Given the description of an element on the screen output the (x, y) to click on. 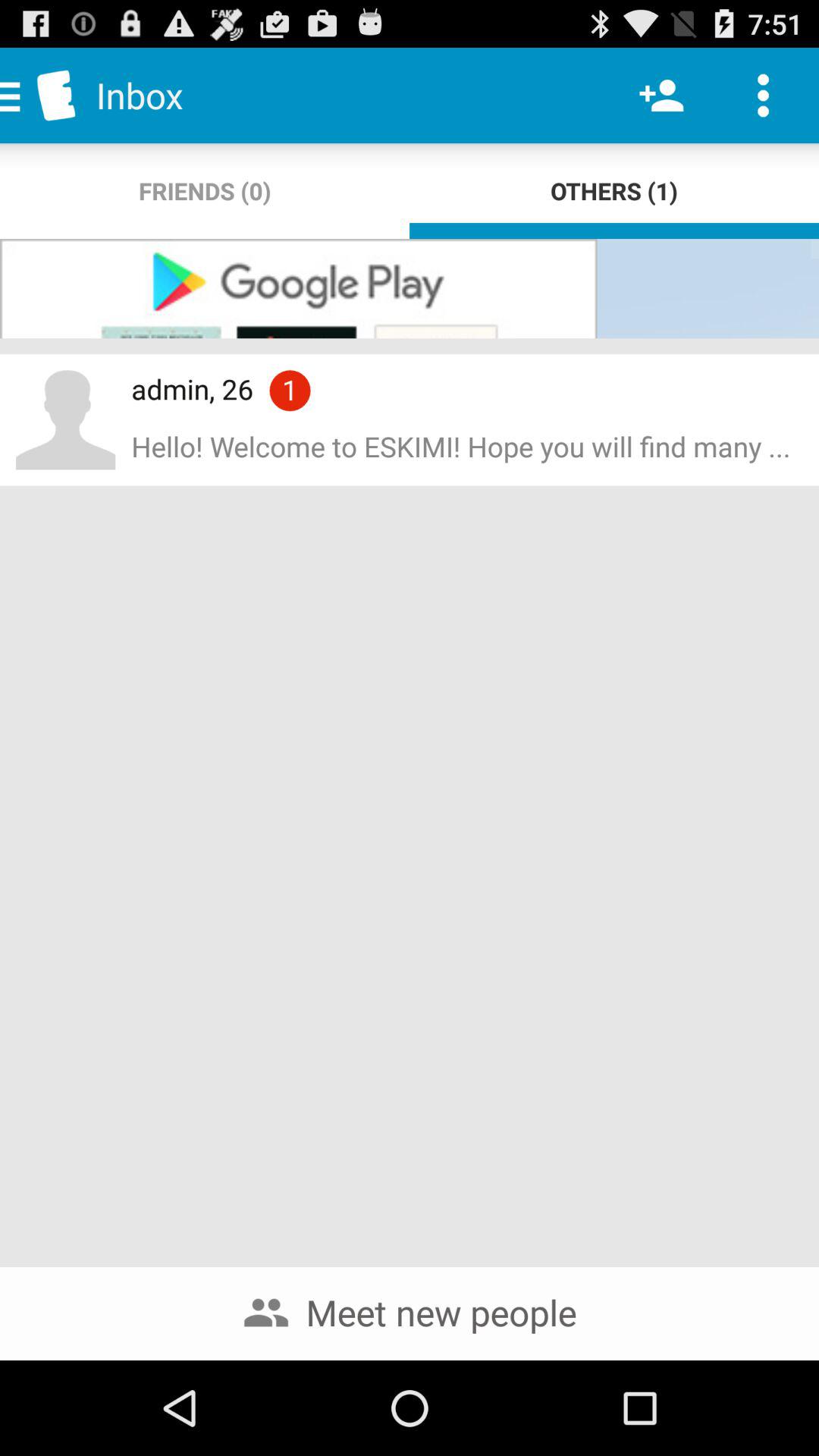
open google advertisement (409, 288)
